Given the description of an element on the screen output the (x, y) to click on. 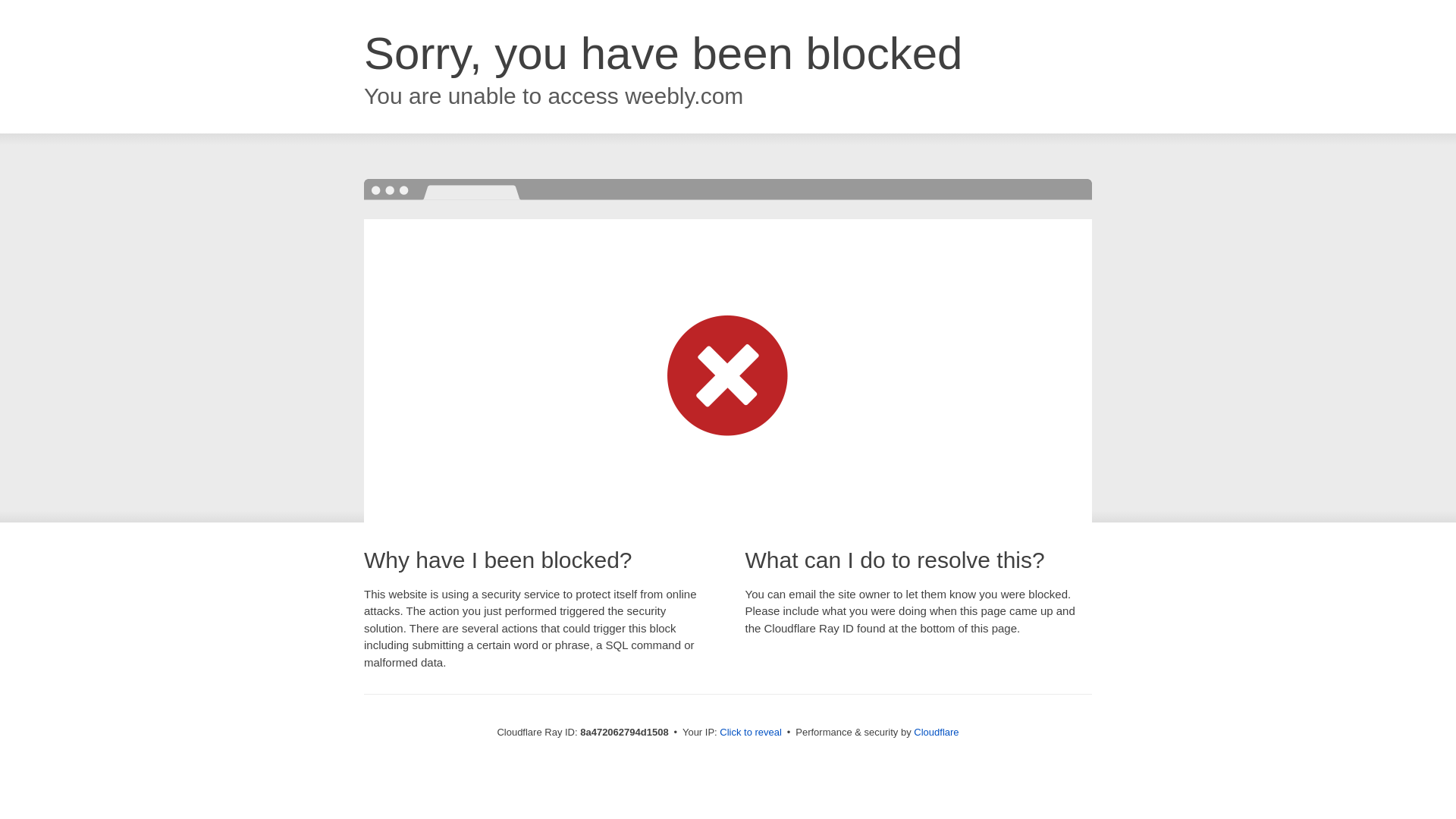
Cloudflare (936, 731)
Click to reveal (750, 732)
